Given the description of an element on the screen output the (x, y) to click on. 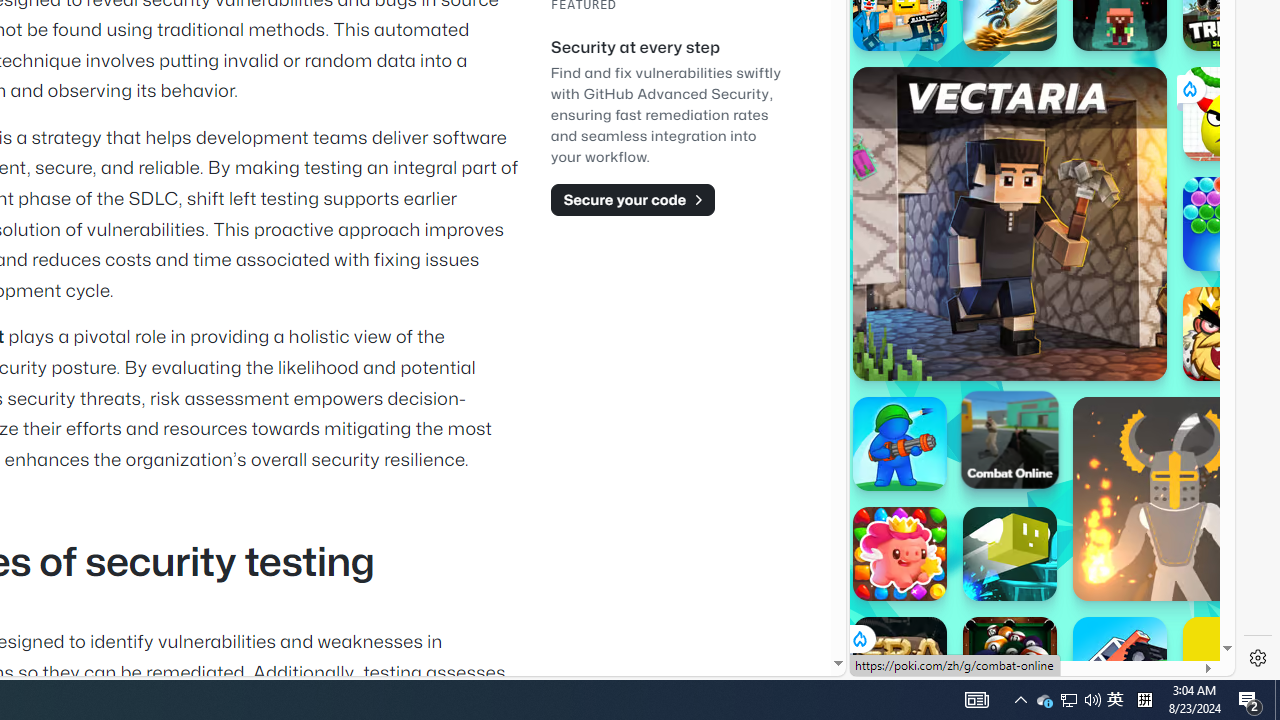
War Master War Master (899, 443)
BombHopper.io (1009, 553)
Class: rCs5cyEiqiTpYvt_VBCR (858, 638)
Crazy Cars (1217, 290)
poki.com (1092, 338)
Draw To Smash: Logic Puzzle (1229, 113)
8 Ball Pool With Buddies 8 Ball Pool With Buddies (1009, 664)
Ragdoll Hit (1174, 498)
8 Ball Pool With Buddies (1009, 664)
Search results from poki.com (1005, 59)
Vectaria.io Vectaria.io (1009, 223)
Hills of Steel (943, 300)
Monster Tracks (1119, 664)
Monster Tracks Monster Tracks (1119, 664)
Combat Reloaded (1092, 200)
